Given the description of an element on the screen output the (x, y) to click on. 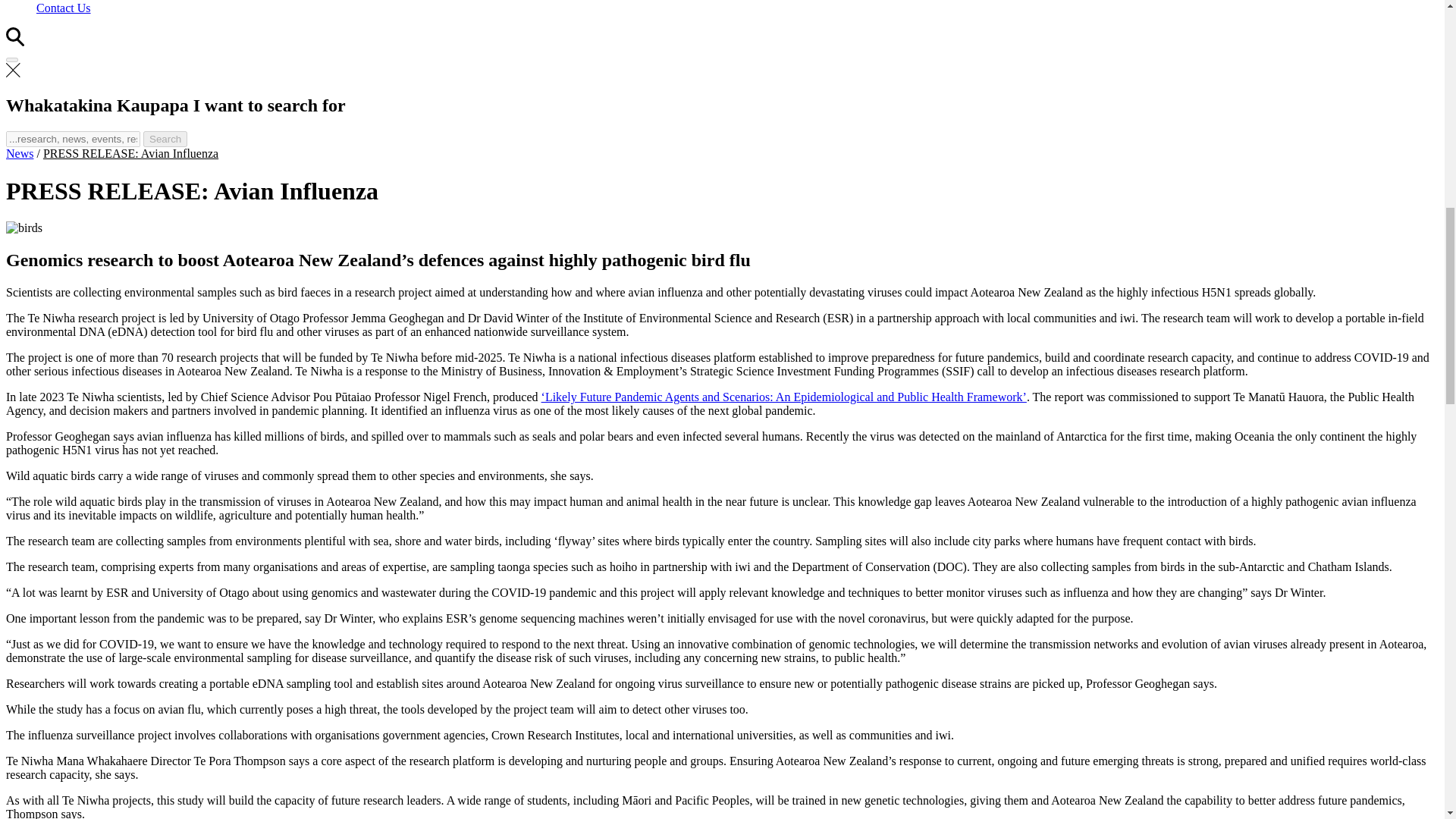
Search (164, 139)
News (19, 153)
